Given the description of an element on the screen output the (x, y) to click on. 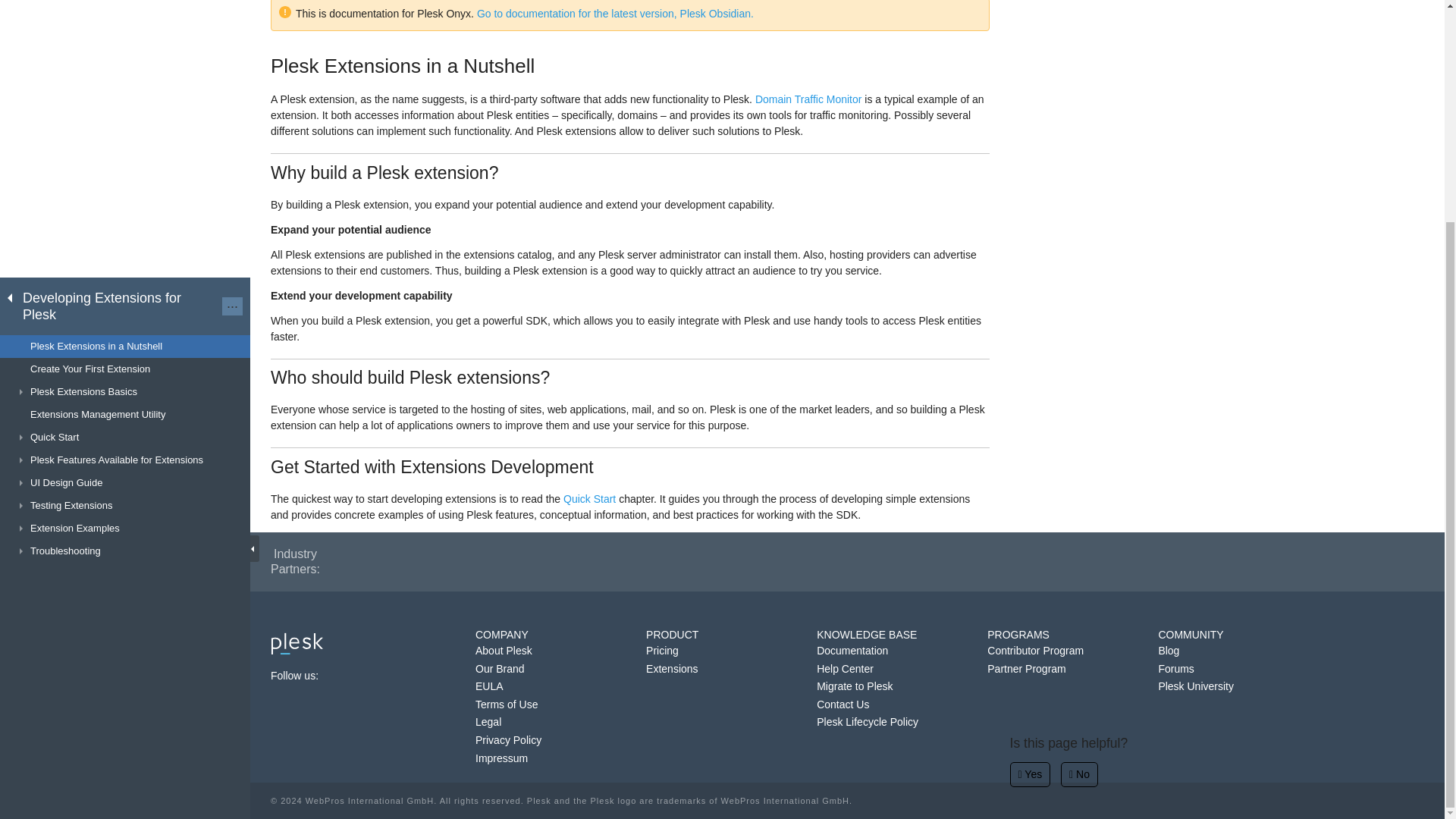
Amazon (673, 560)
Open the Plesk feed on Twitter (308, 702)
Open the Plesk page on LinkedIn (335, 702)
Plesk on Facebook (281, 702)
Alibaba Cloud (1174, 560)
Virtuozzo (586, 560)
Microsoft (787, 560)
Automaticc (414, 560)
Open the Plesk page on Facebook (281, 702)
Red Hat (1067, 560)
Plesk Extensions in a Nutshell (125, 51)
Microsoft Azure (943, 560)
Open the Plesk opensource projects on GitHub (390, 702)
Plesk on YouTube (363, 702)
Plesk on LinkedIn (335, 702)
